Given the description of an element on the screen output the (x, y) to click on. 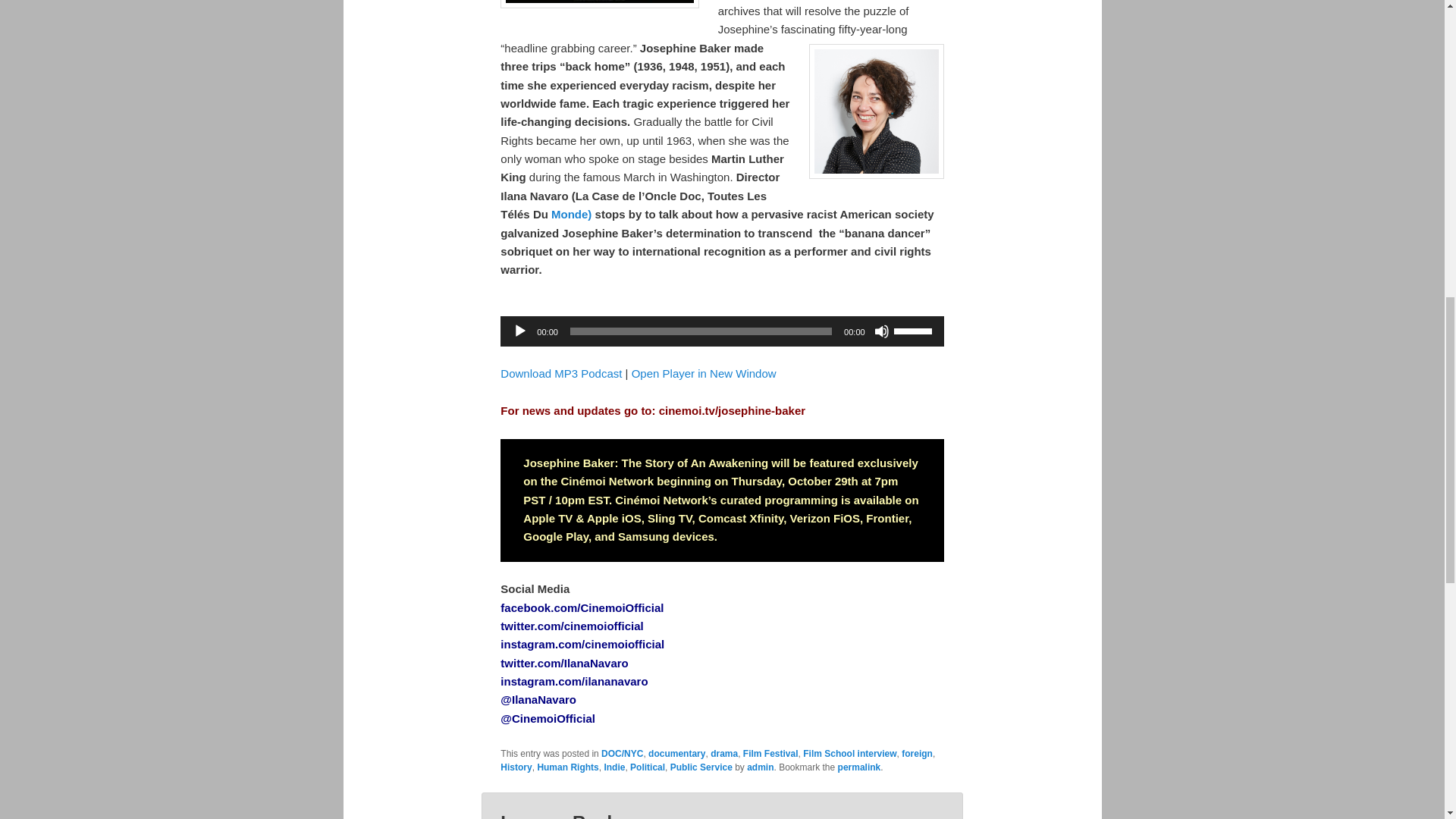
permalink (859, 766)
drama (724, 752)
Indie (614, 766)
Political (647, 766)
Play (519, 331)
Download MP3 Podcast (560, 373)
Human Rights (567, 766)
History (515, 766)
Mute (882, 331)
